Given the description of an element on the screen output the (x, y) to click on. 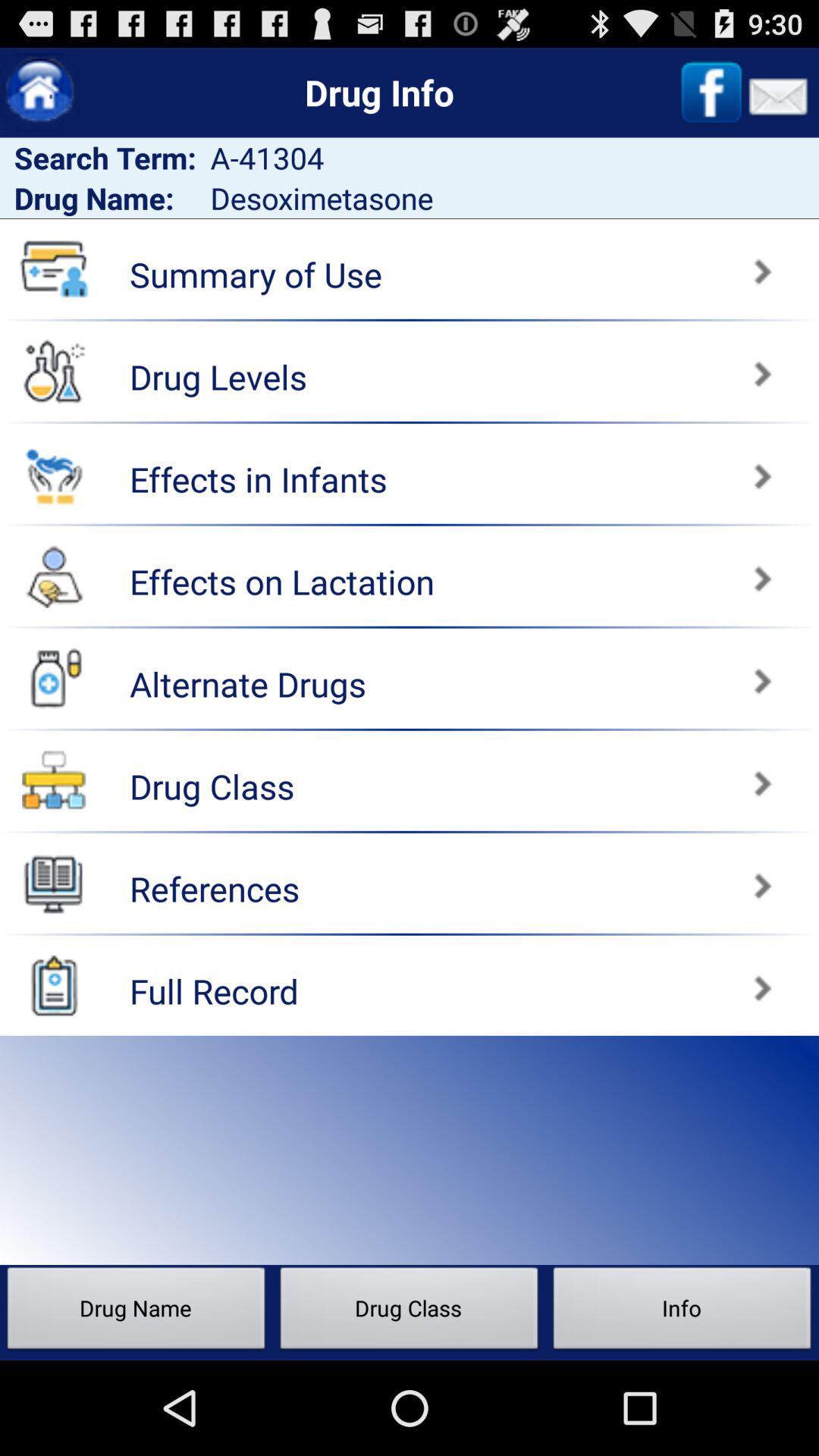
access main page (39, 92)
